Given the description of an element on the screen output the (x, y) to click on. 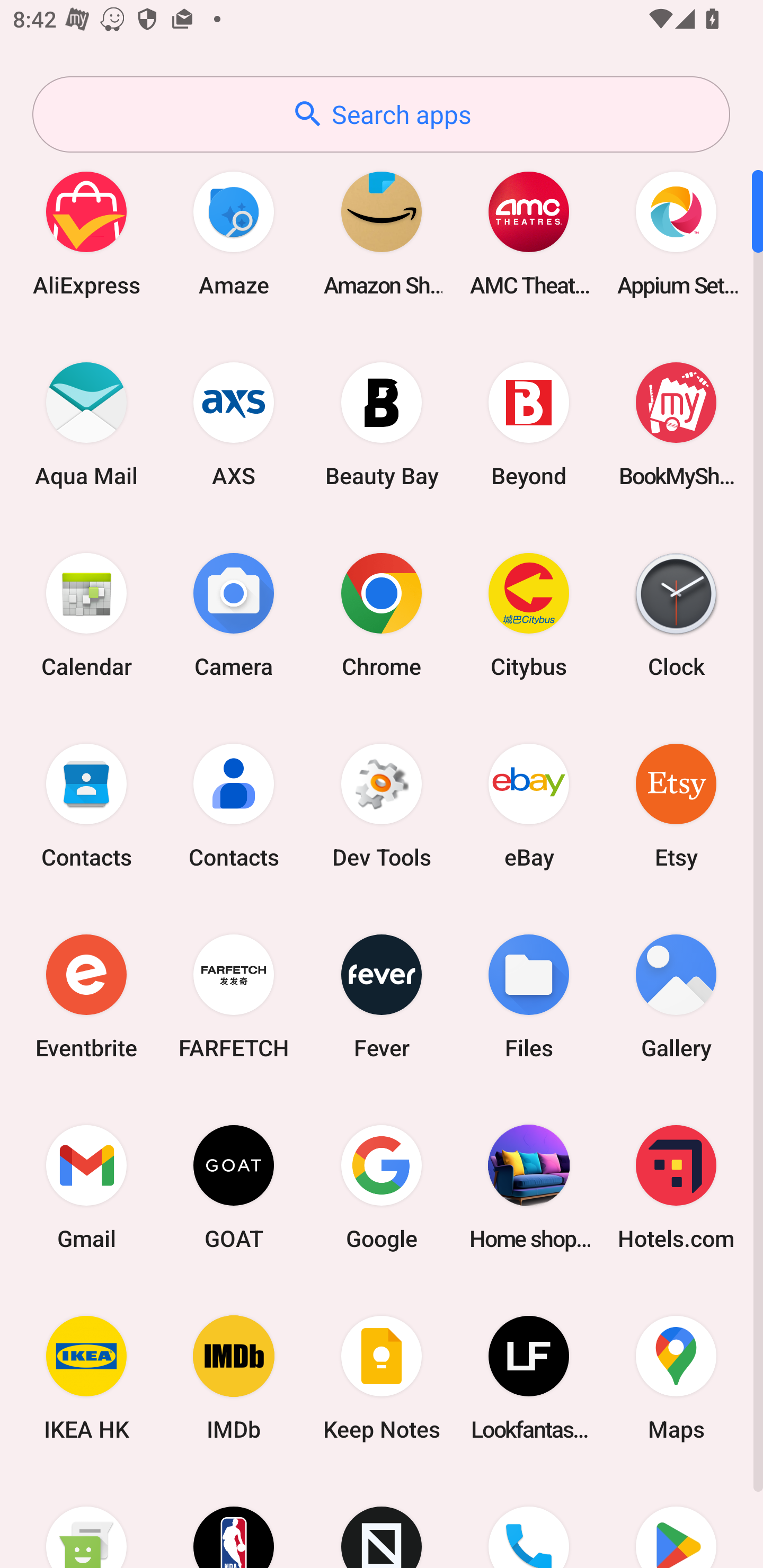
  Search apps (381, 114)
AliExpress (86, 233)
Amaze (233, 233)
Amazon Shopping (381, 233)
AMC Theatres (528, 233)
Appium Settings (676, 233)
Aqua Mail (86, 424)
AXS (233, 424)
Beauty Bay (381, 424)
Beyond (528, 424)
BookMyShow (676, 424)
Calendar (86, 614)
Camera (233, 614)
Chrome (381, 614)
Citybus (528, 614)
Clock (676, 614)
Contacts (86, 805)
Contacts (233, 805)
Dev Tools (381, 805)
eBay (528, 805)
Etsy (676, 805)
Eventbrite (86, 996)
FARFETCH (233, 996)
Fever (381, 996)
Files (528, 996)
Gallery (676, 996)
Gmail (86, 1186)
GOAT (233, 1186)
Google (381, 1186)
Home shopping (528, 1186)
Hotels.com (676, 1186)
IKEA HK (86, 1377)
IMDb (233, 1377)
Keep Notes (381, 1377)
Lookfantastic (528, 1377)
Maps (676, 1377)
Messaging (86, 1520)
NBA (233, 1520)
Novelship (381, 1520)
Phone (528, 1520)
Play Store (676, 1520)
